Given the description of an element on the screen output the (x, y) to click on. 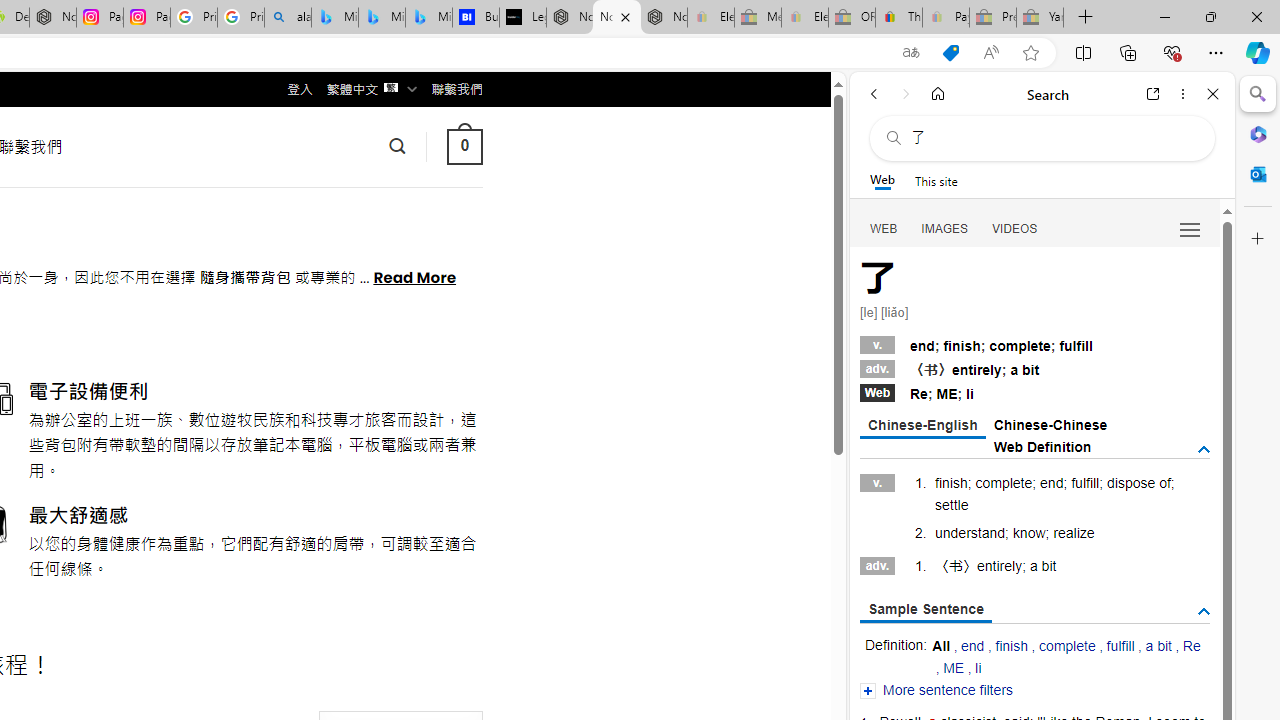
know (1028, 532)
a (1033, 565)
Re (1190, 645)
Chinese-Chinese (1050, 424)
dispose (1131, 483)
bit (1048, 565)
